Given the description of an element on the screen output the (x, y) to click on. 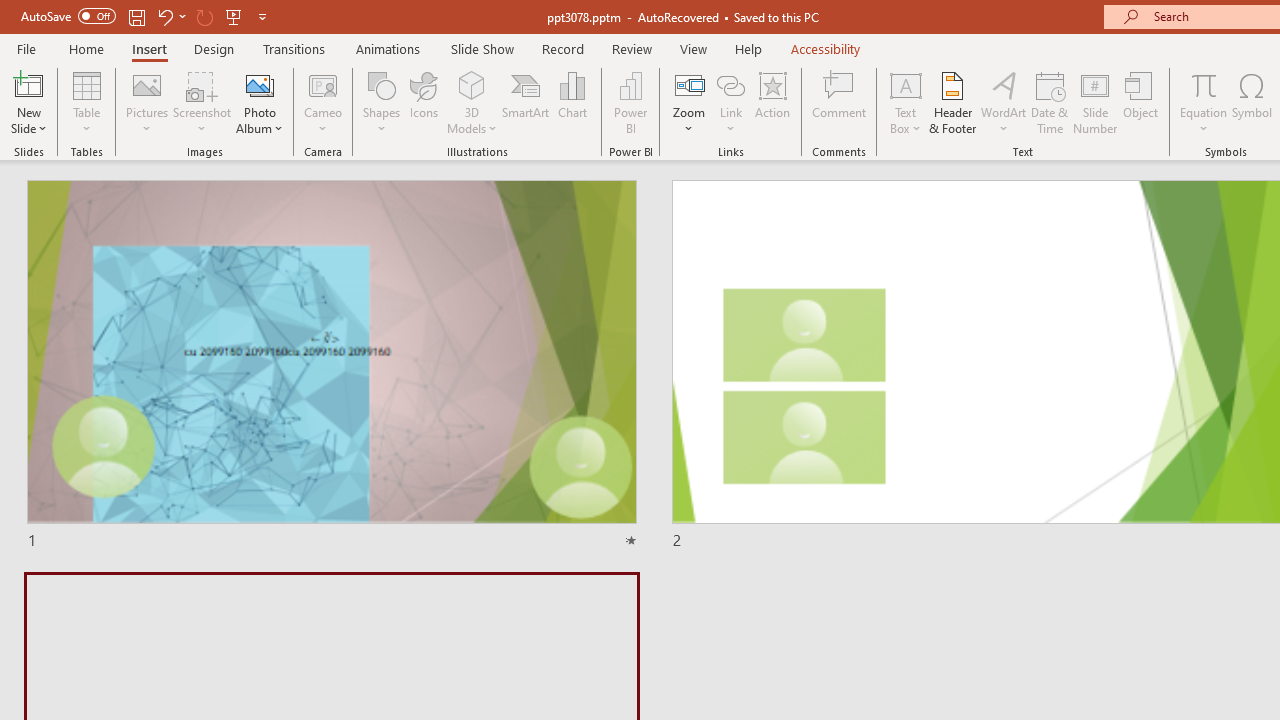
Object... (1141, 102)
Chart... (572, 102)
Comment (839, 102)
Slide Number (1095, 102)
3D Models (472, 84)
Date & Time... (1050, 102)
